Given the description of an element on the screen output the (x, y) to click on. 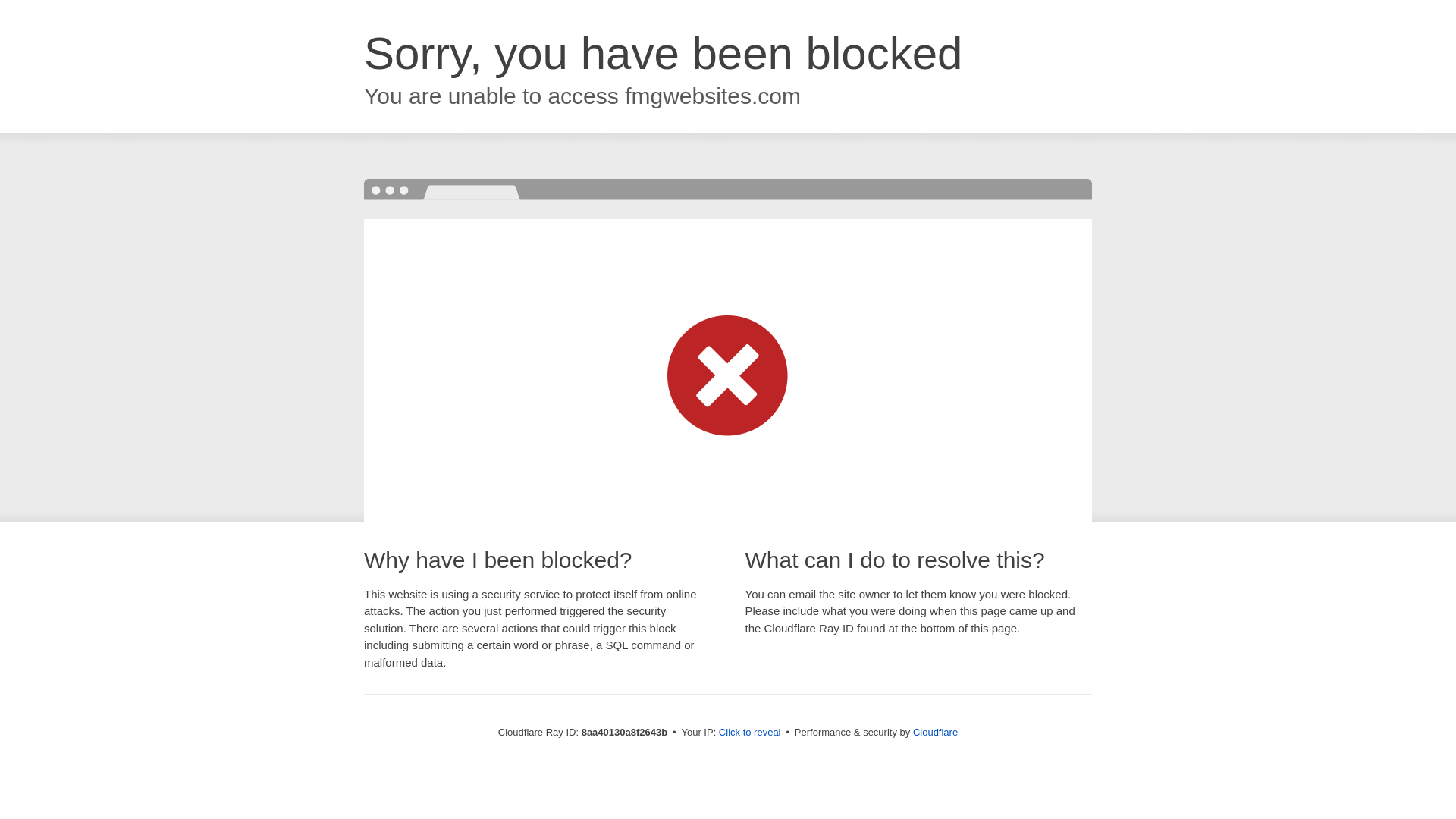
Click to reveal (749, 732)
Cloudflare (935, 731)
